Given the description of an element on the screen output the (x, y) to click on. 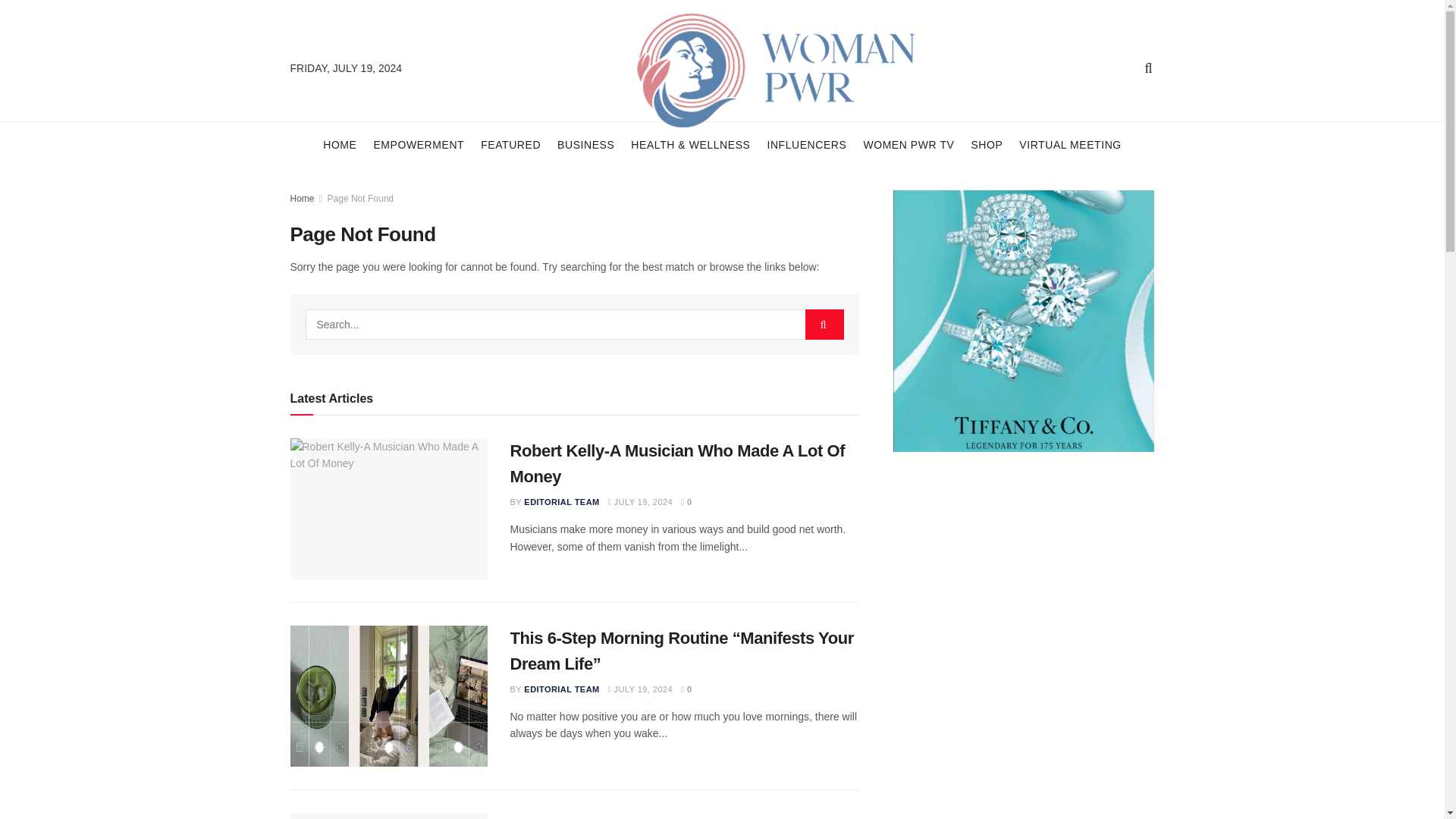
FEATURED (510, 144)
Robert Kelly-A Musician Who Made A Lot Of Money (676, 463)
JULY 19, 2024 (640, 501)
EDITORIAL TEAM (561, 501)
VIRTUAL MEETING (1070, 144)
0 (687, 501)
Robert Kelly-A Musician Who Made A Lot Of Money (387, 508)
Page Not Found (360, 198)
WOMEN PWR TV (908, 144)
Home (301, 198)
INFLUENCERS (806, 144)
BUSINESS (585, 144)
EMPOWERMENT (418, 144)
